Given the description of an element on the screen output the (x, y) to click on. 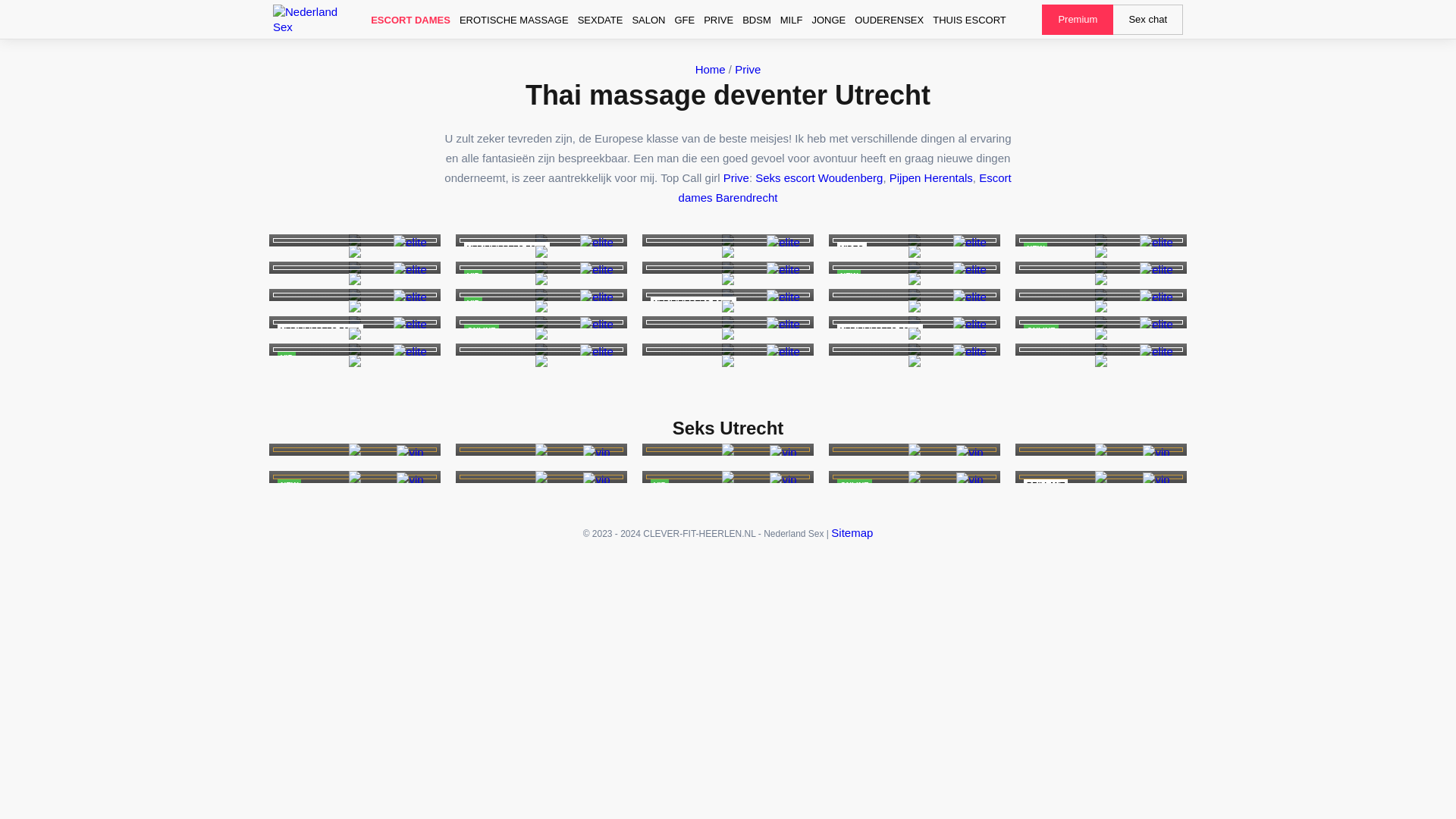
EROTISCHE MASSAGE (514, 19)
Sex chat (1147, 19)
VIDEO (914, 240)
THUIS ESCORT (969, 19)
VERIFIZIERTES FOTO (355, 322)
NEW (1100, 240)
ESCORT DAMES (410, 19)
SEXDATE (600, 19)
Escort dames Barendrecht (541, 240)
